Given the description of an element on the screen output the (x, y) to click on. 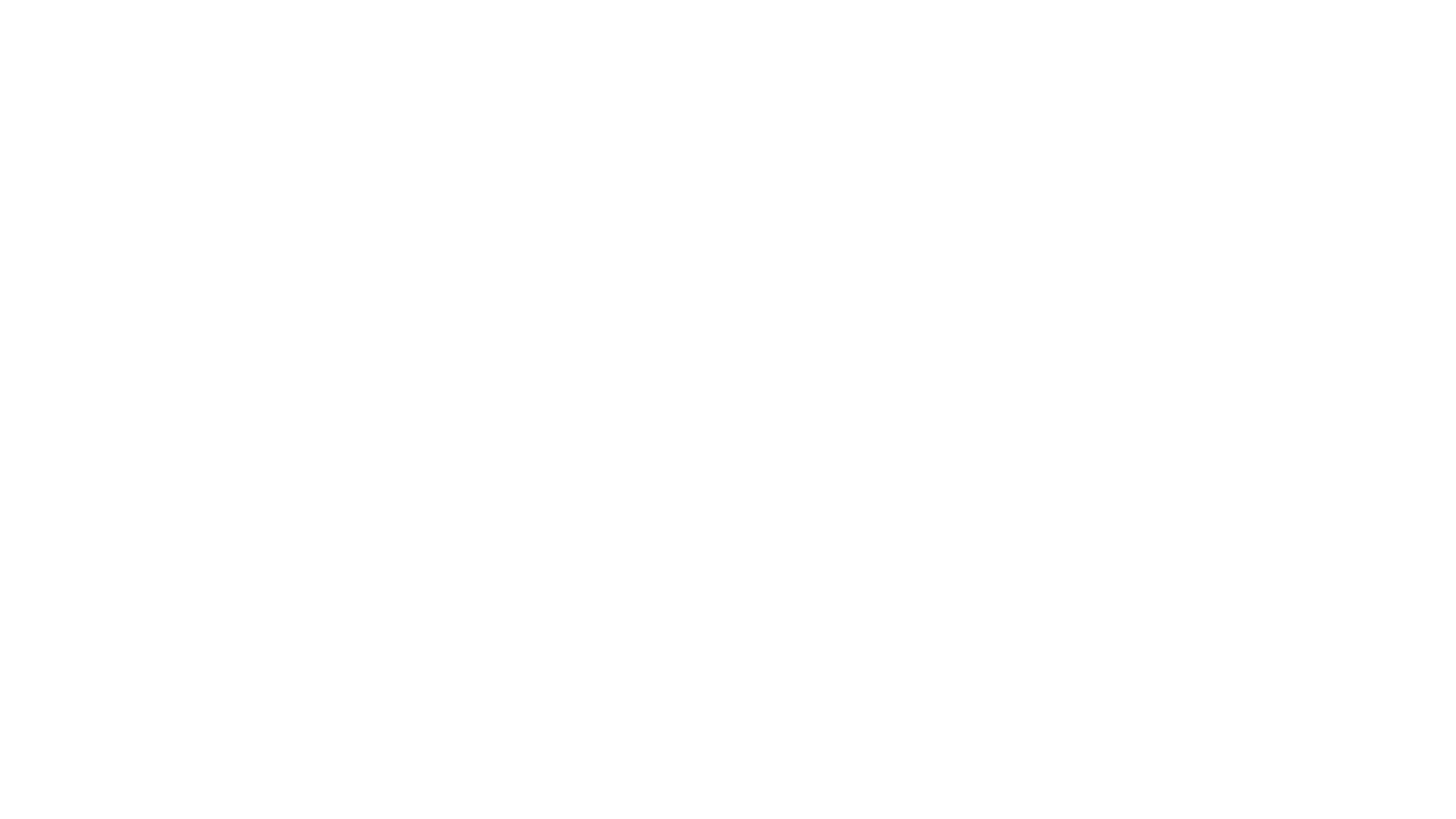
Kavun.by Element type: text (319, 35)
